Given the description of an element on the screen output the (x, y) to click on. 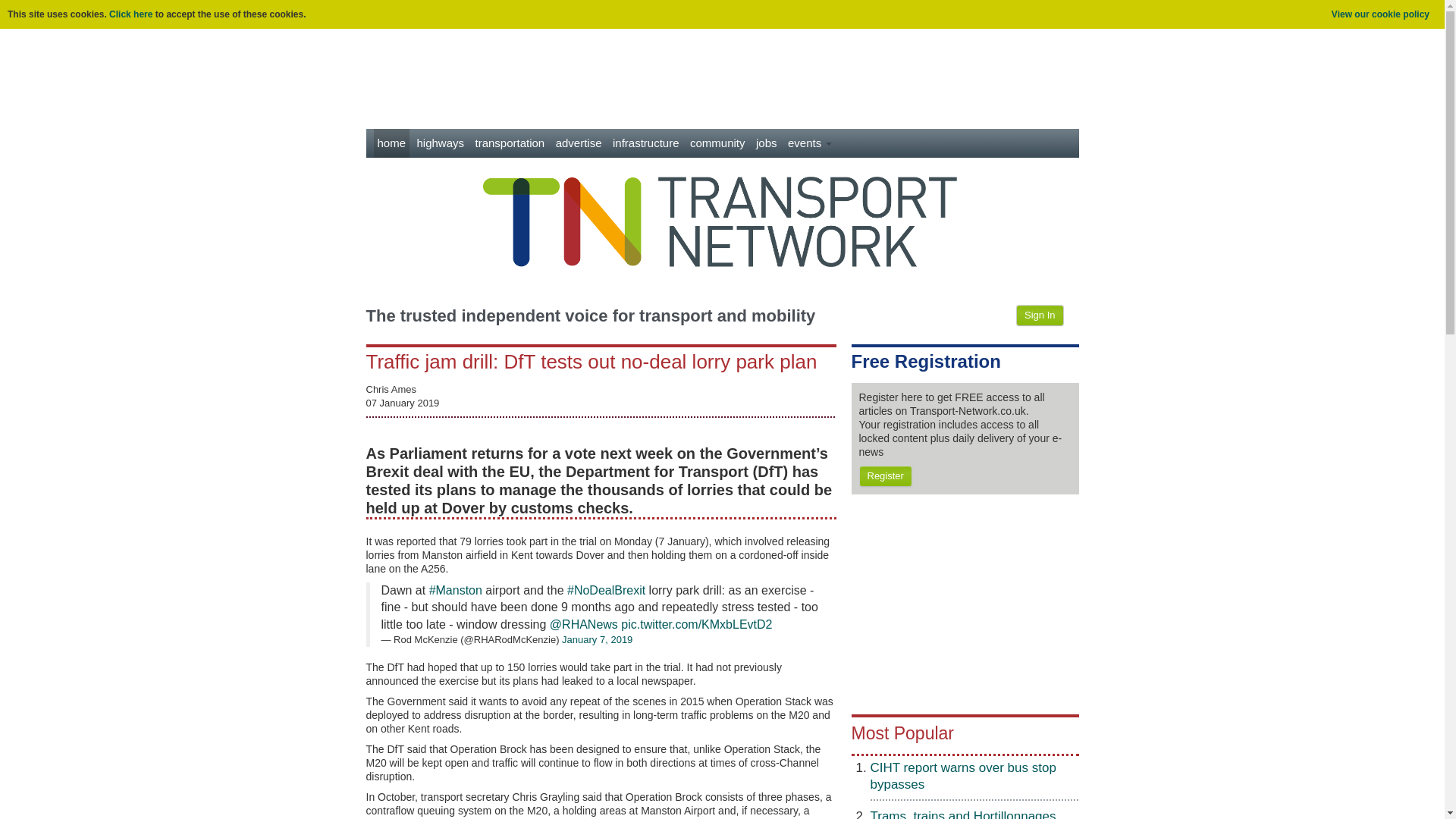
advertise (578, 142)
highways (439, 142)
events (809, 142)
Click here (130, 14)
community (717, 142)
infrastructure (645, 142)
transportation (509, 142)
January 7, 2019 (596, 639)
Sign In (1039, 315)
jobs (766, 142)
